Given the description of an element on the screen output the (x, y) to click on. 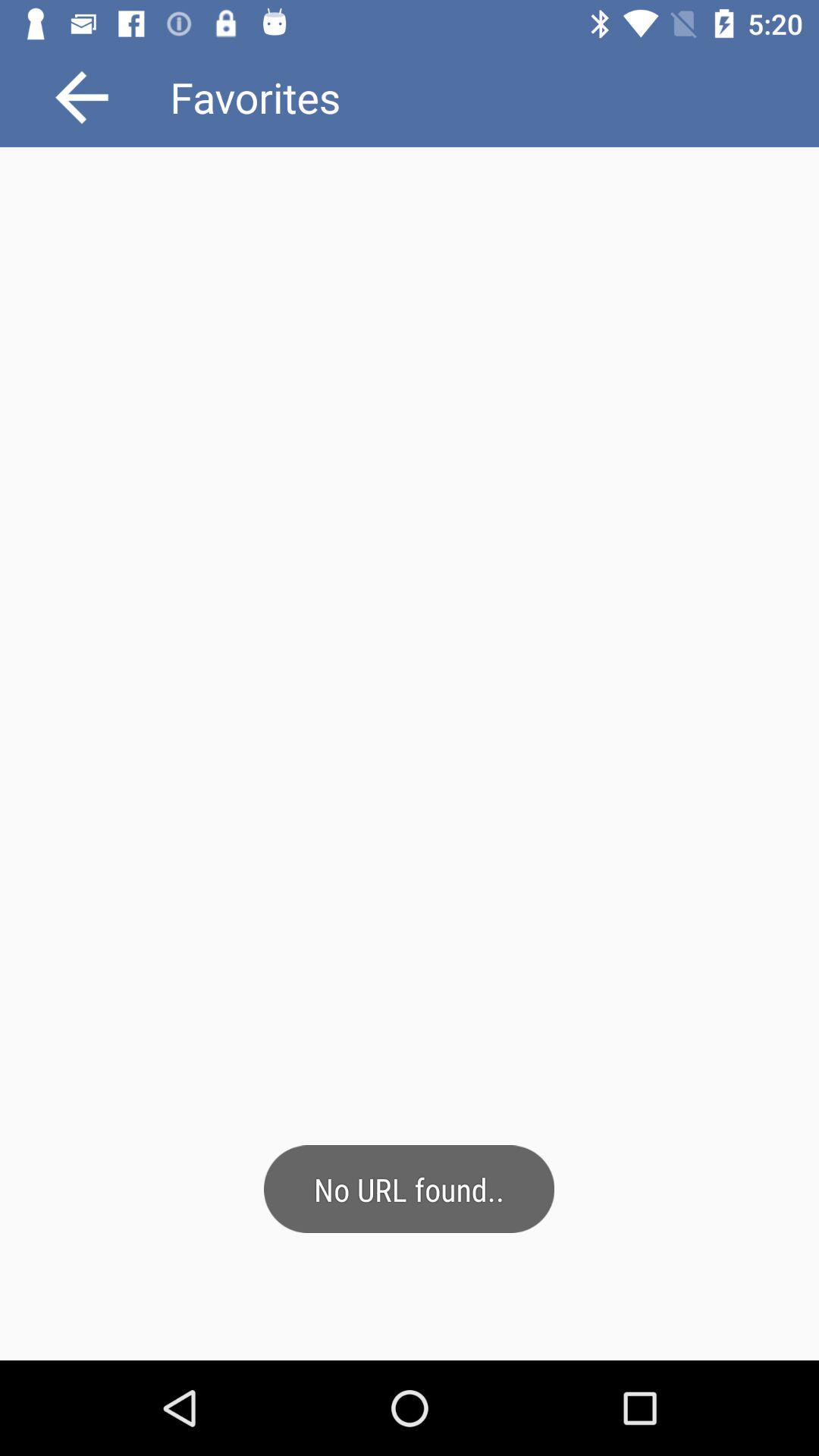
go to back puttern (81, 97)
